Given the description of an element on the screen output the (x, y) to click on. 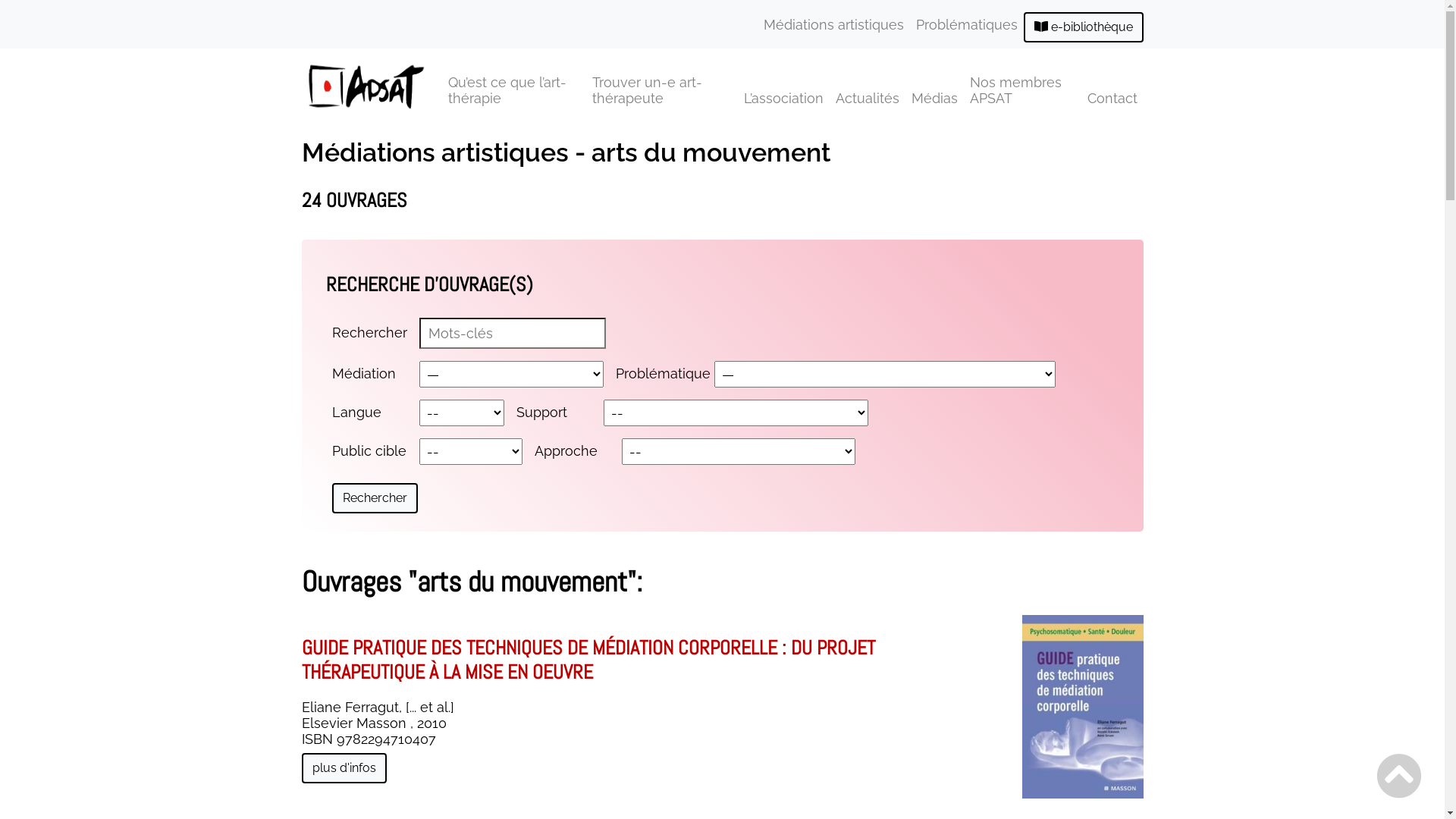
Rechercher Element type: text (374, 498)
Nos membres APSAT Element type: text (1022, 90)
Contact Element type: text (1112, 97)
plus d'infos Element type: text (343, 768)
